Given the description of an element on the screen output the (x, y) to click on. 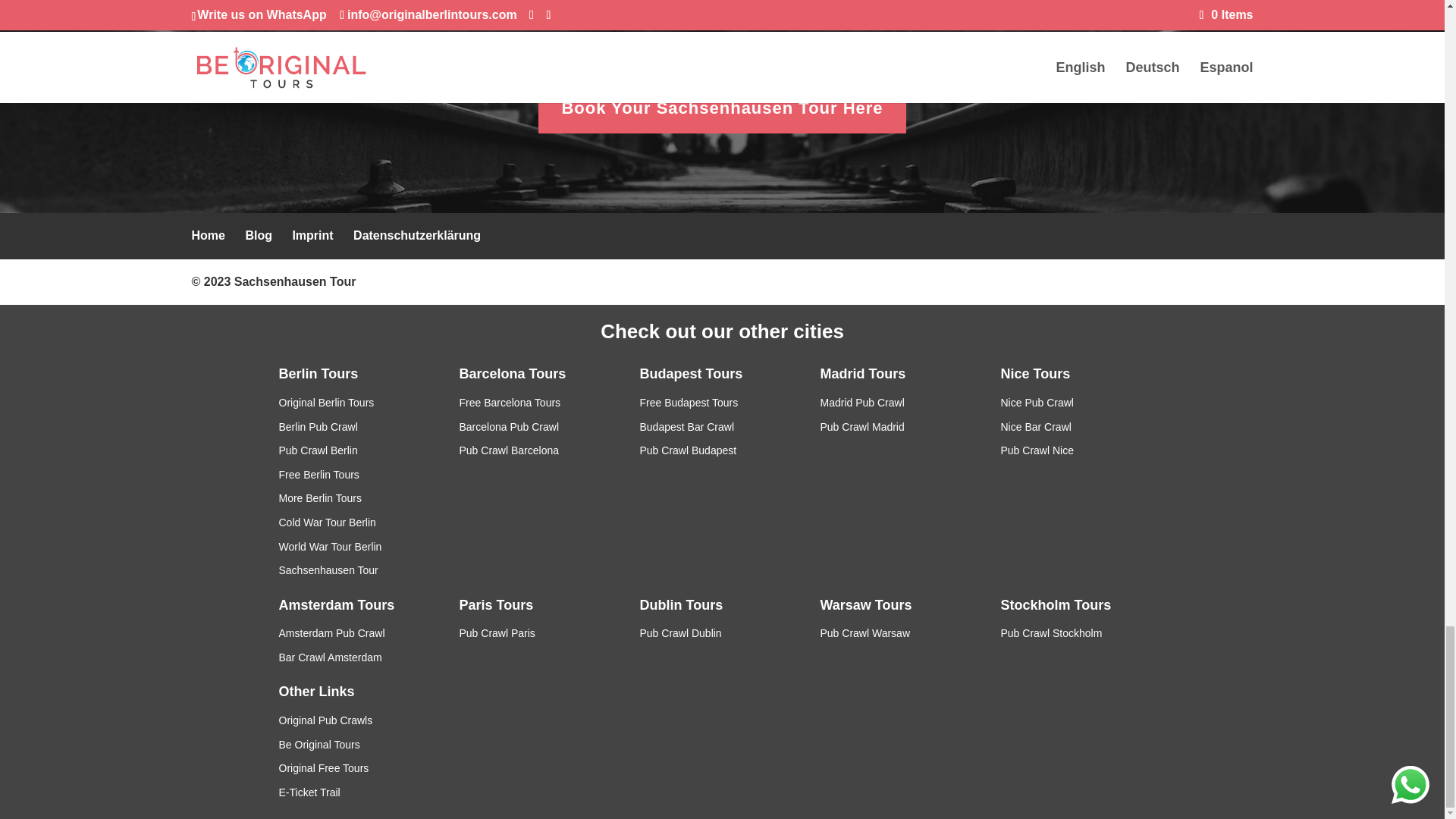
Pub Crawl Berlin (318, 450)
Original Berlin Tours (326, 402)
Book Your Sachsenhausen Tour Here (721, 107)
Berlin Pub Crawl (318, 426)
Home (207, 235)
Free Berlin Tours (319, 474)
Blog (258, 235)
Imprint (312, 235)
Sachsenhausen Tour (295, 281)
